Given the description of an element on the screen output the (x, y) to click on. 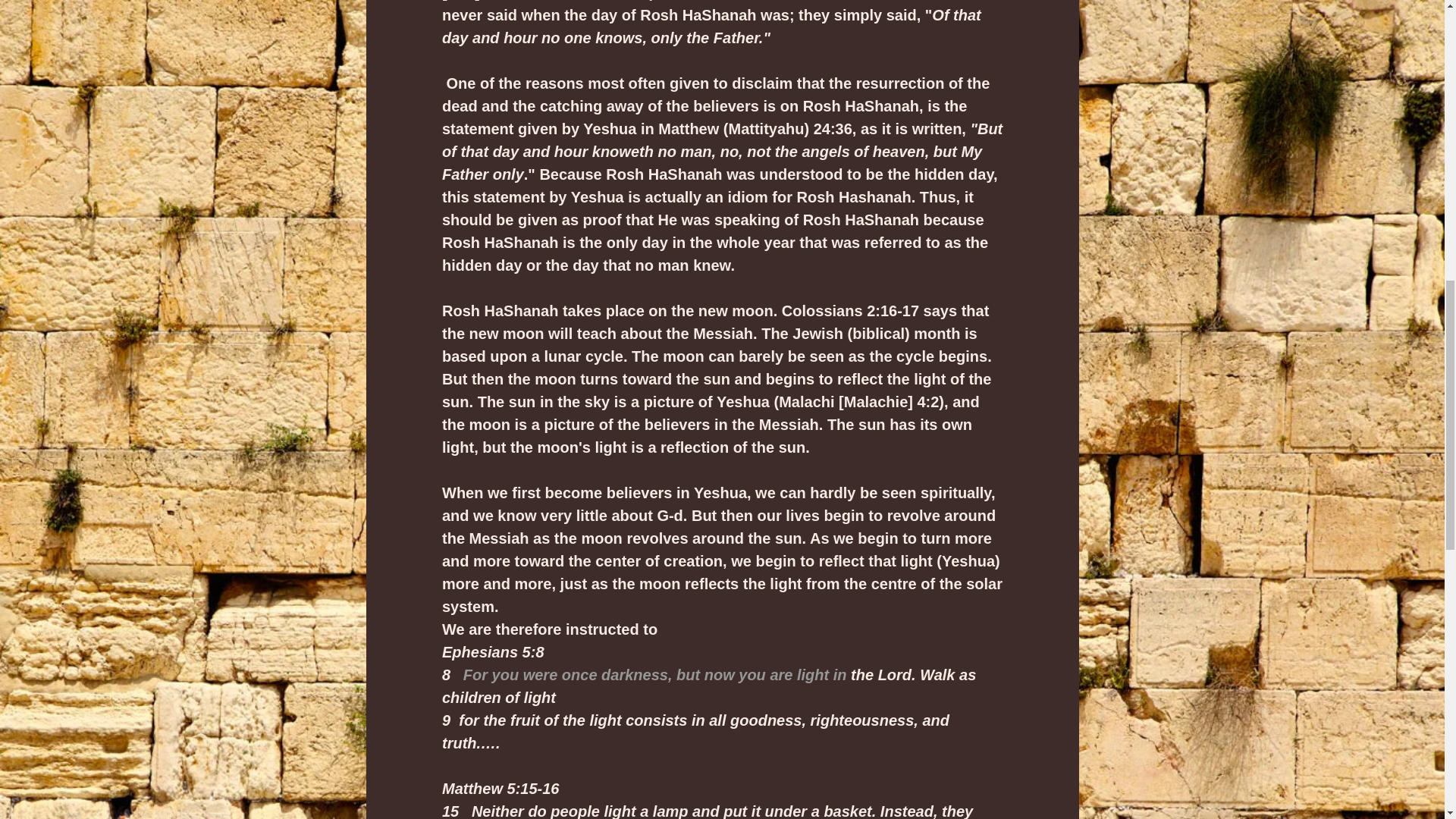
For (474, 674)
darkness, (636, 674)
you were (524, 674)
but (688, 674)
you are light (783, 674)
once (578, 674)
now (718, 674)
